Given the description of an element on the screen output the (x, y) to click on. 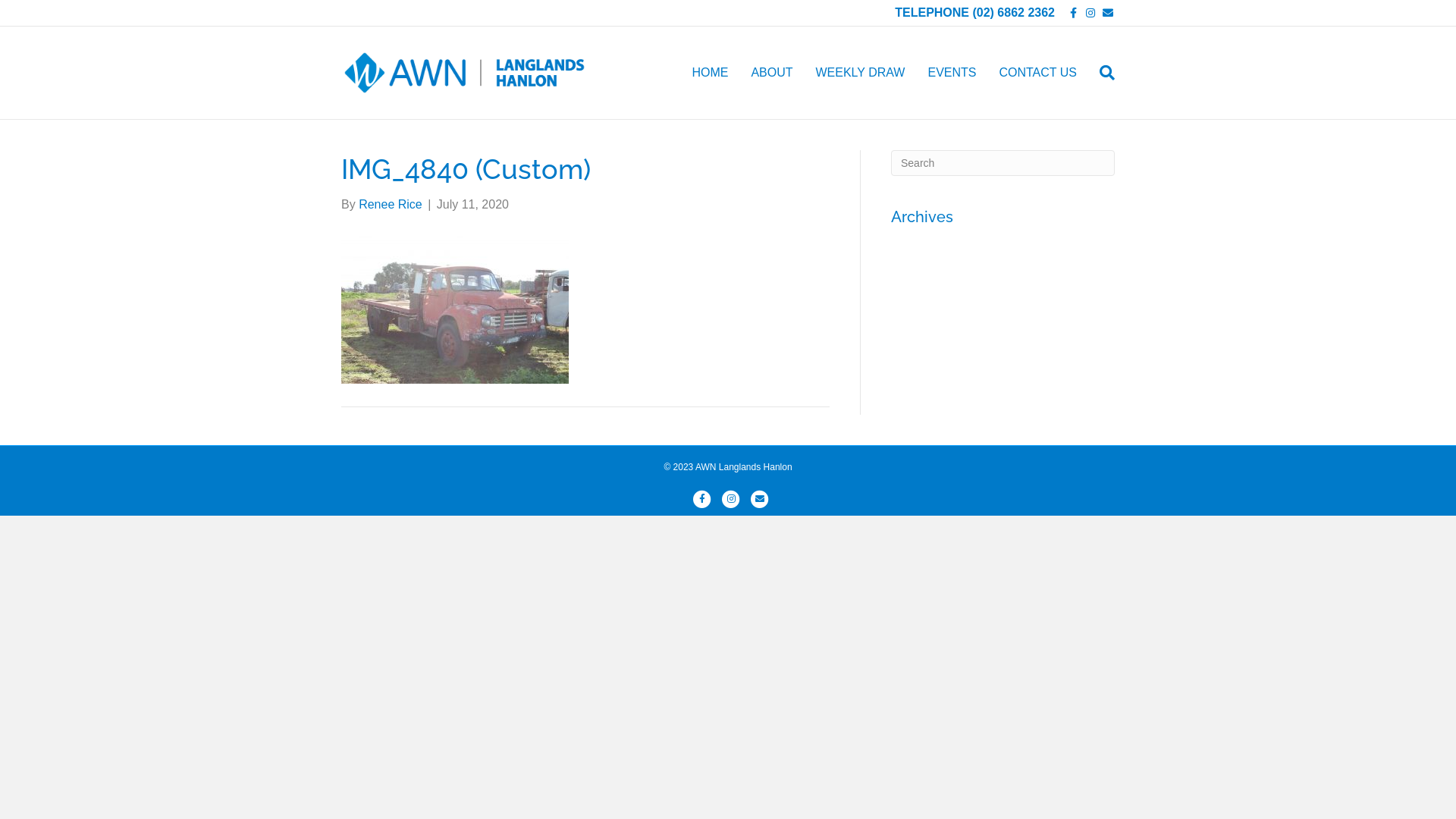
ABOUT Element type: text (771, 72)
HOME Element type: text (709, 72)
Email Element type: text (759, 498)
Email Element type: text (1104, 11)
WEEKLY DRAW Element type: text (859, 72)
Facebook Element type: text (701, 498)
Instagram Element type: text (730, 498)
Type and press Enter to search. Element type: hover (1002, 162)
EVENTS Element type: text (951, 72)
Instagram Element type: text (1085, 11)
Facebook Element type: text (1067, 11)
CONTACT US Element type: text (1037, 72)
Renee Rice Element type: text (390, 203)
